Given the description of an element on the screen output the (x, y) to click on. 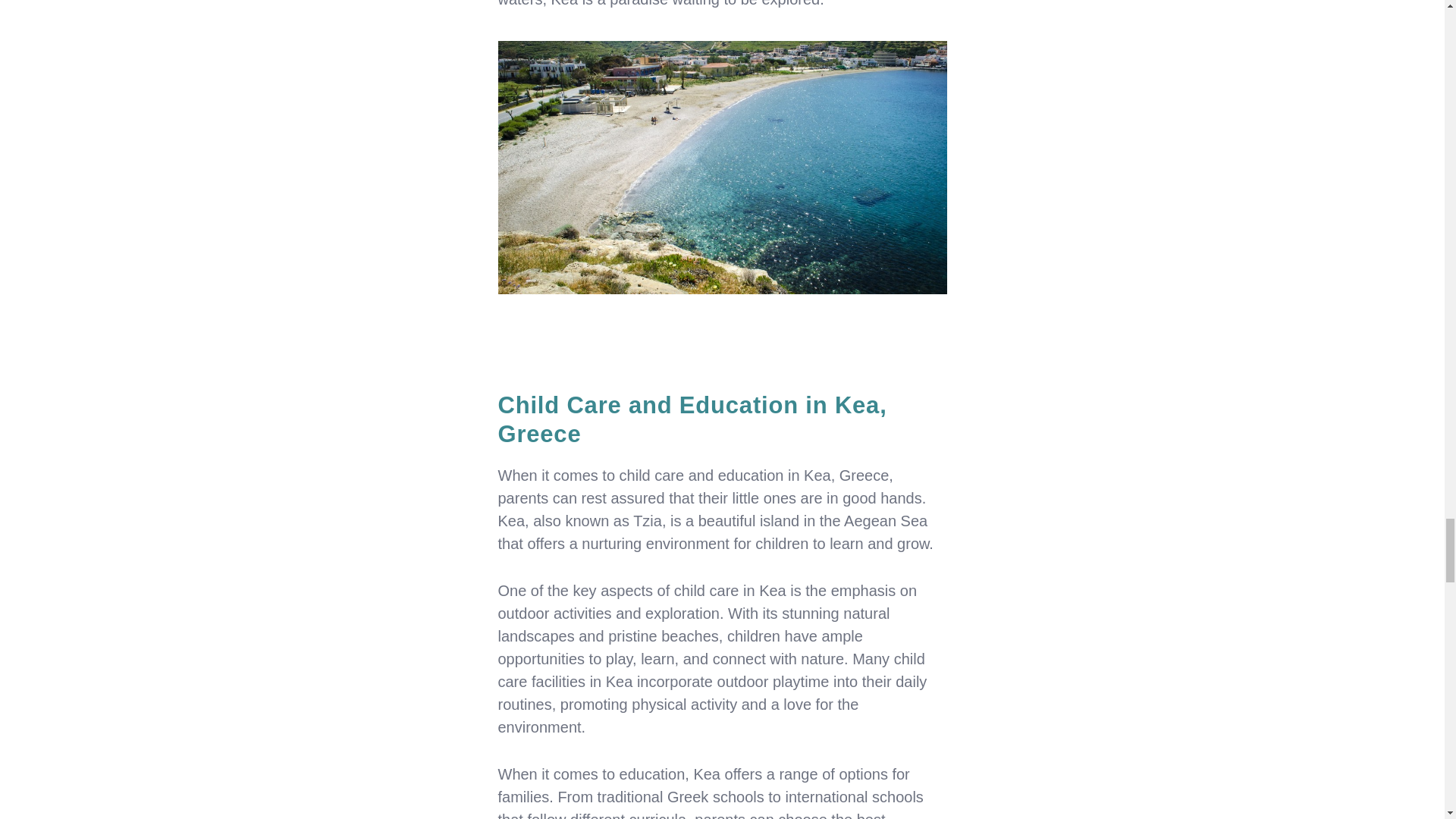
Kea beach view (721, 167)
